Given the description of an element on the screen output the (x, y) to click on. 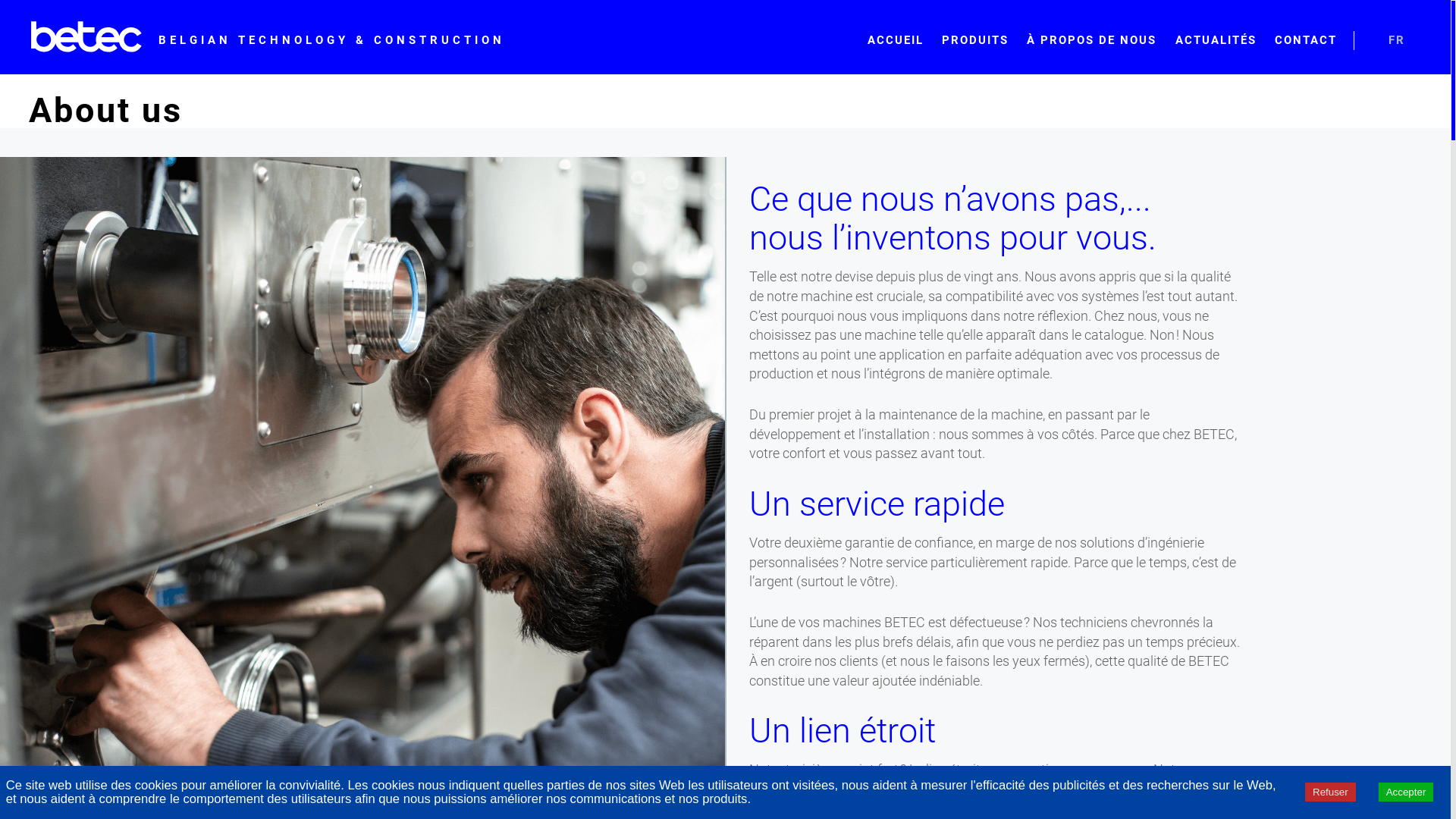
PRODUITS Element type: text (974, 40)
FR Element type: text (1396, 40)
ACCUEIL Element type: text (895, 40)
CONTACT Element type: text (1305, 40)
Accepter Element type: text (1406, 791)
Refuser Element type: text (1330, 791)
